Given the description of an element on the screen output the (x, y) to click on. 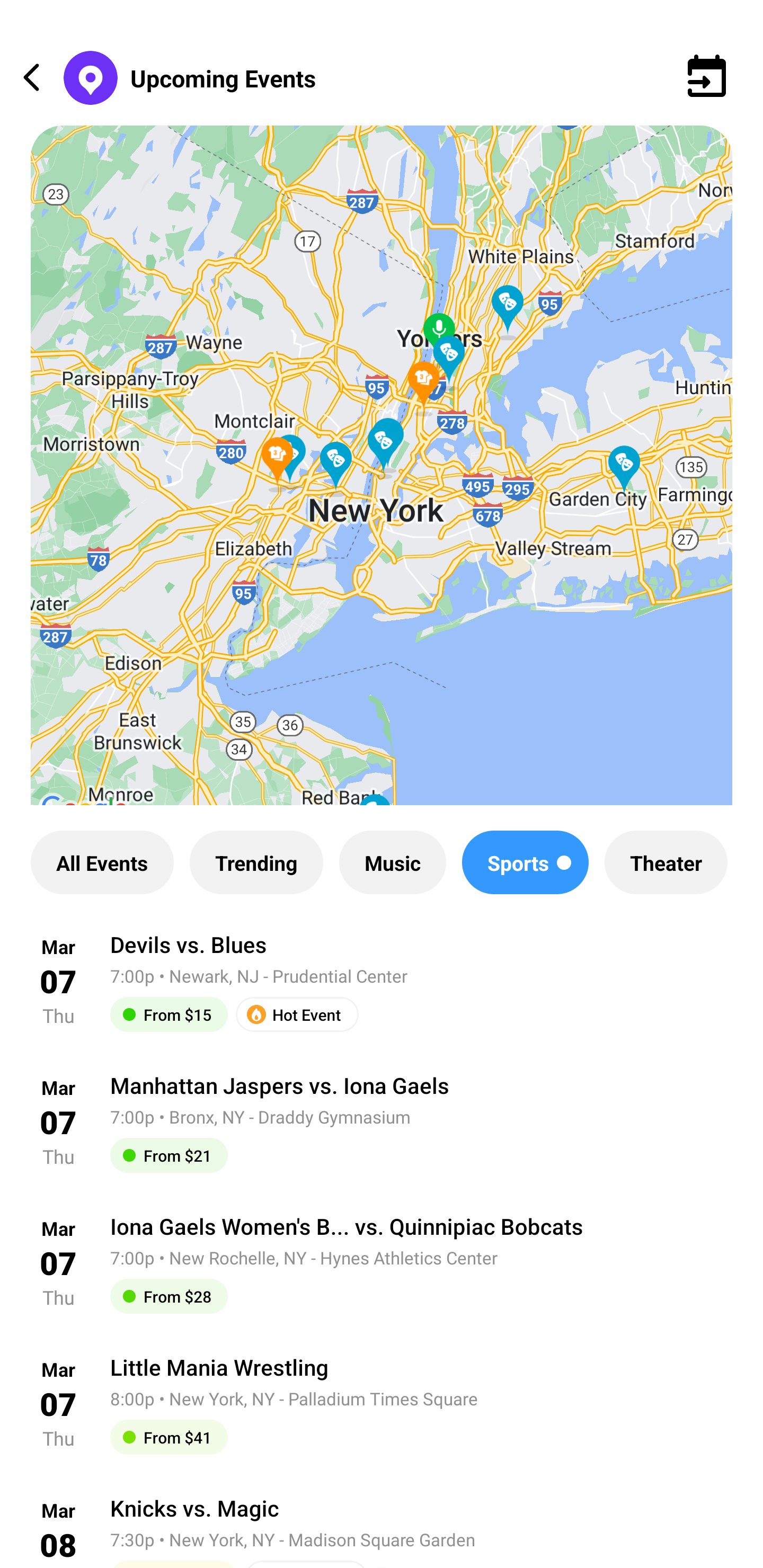
All Events (101, 862)
Trending (256, 862)
Music (392, 862)
Sports (525, 862)
Theater (665, 862)
